Given the description of an element on the screen output the (x, y) to click on. 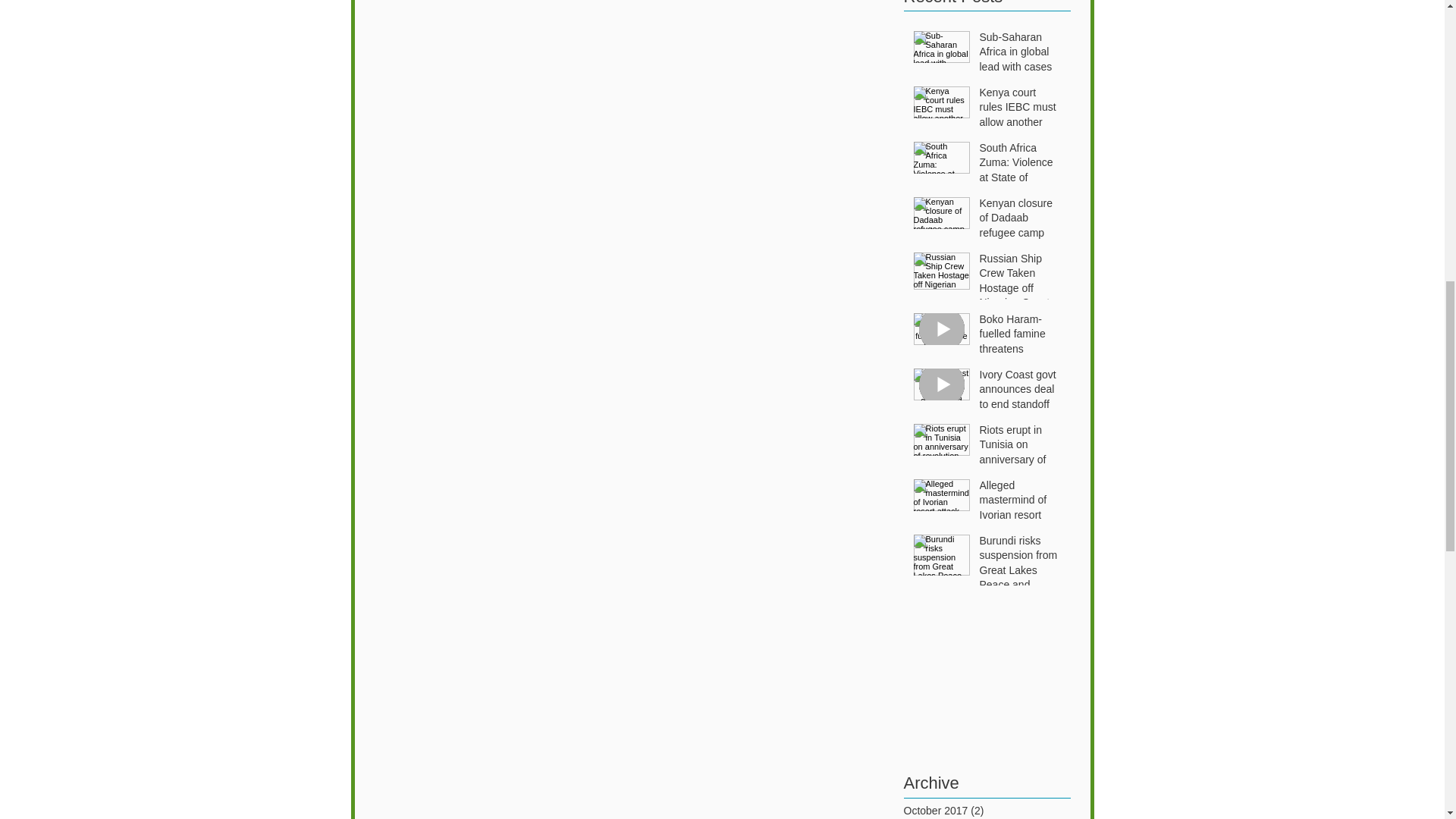
South Africa Zuma: Violence at State of Nation address (1020, 173)
Kenyan closure of Dadaab refugee camp blocked by high court (1020, 236)
